Given the description of an element on the screen output the (x, y) to click on. 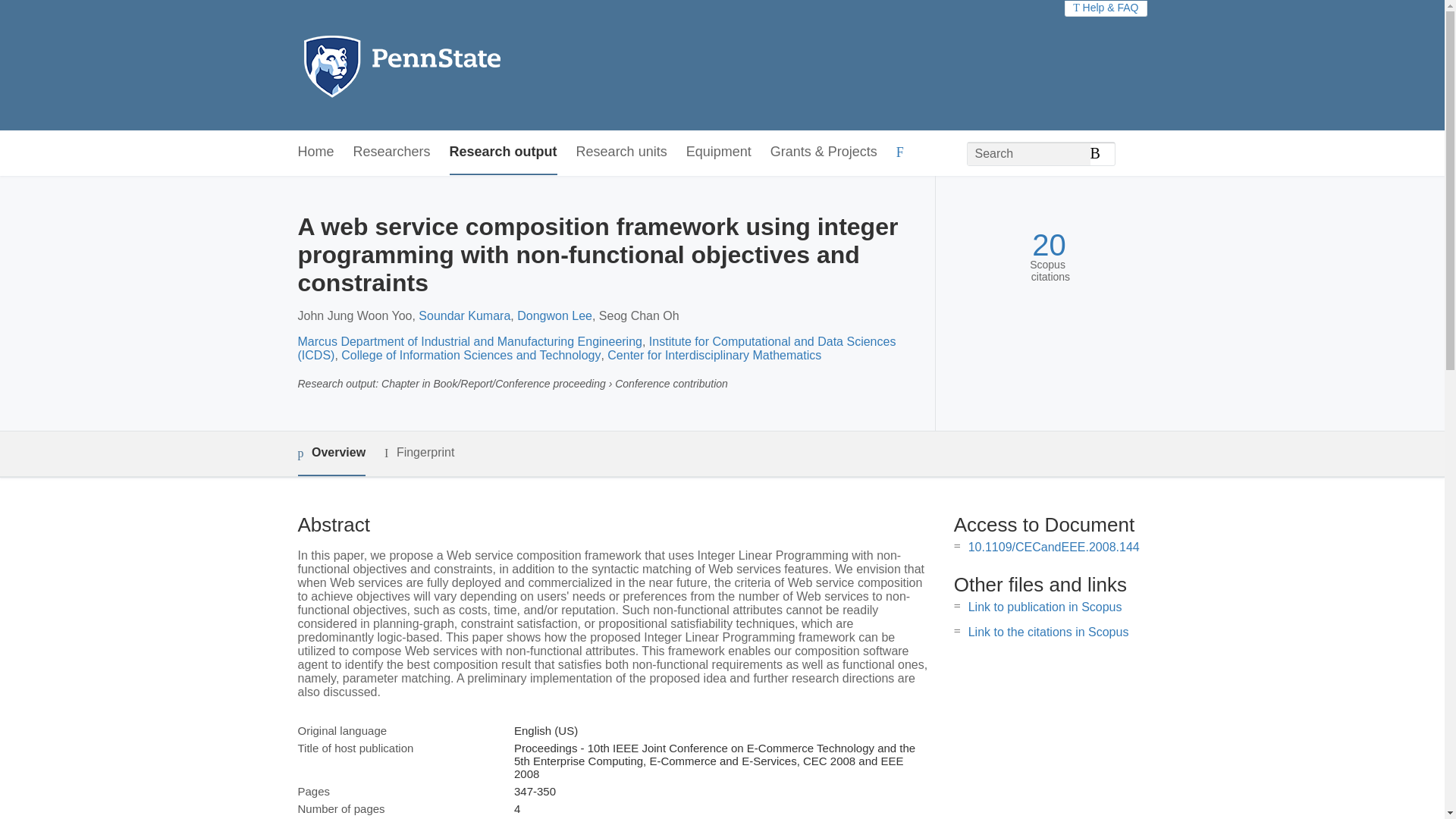
College of Information Sciences and Technology (469, 354)
Dongwon Lee (554, 315)
Overview (331, 453)
Link to the citations in Scopus (1048, 631)
20 (1048, 244)
Fingerprint (419, 453)
Research units (621, 152)
Penn State Home (467, 65)
Research output (503, 152)
